Given the description of an element on the screen output the (x, y) to click on. 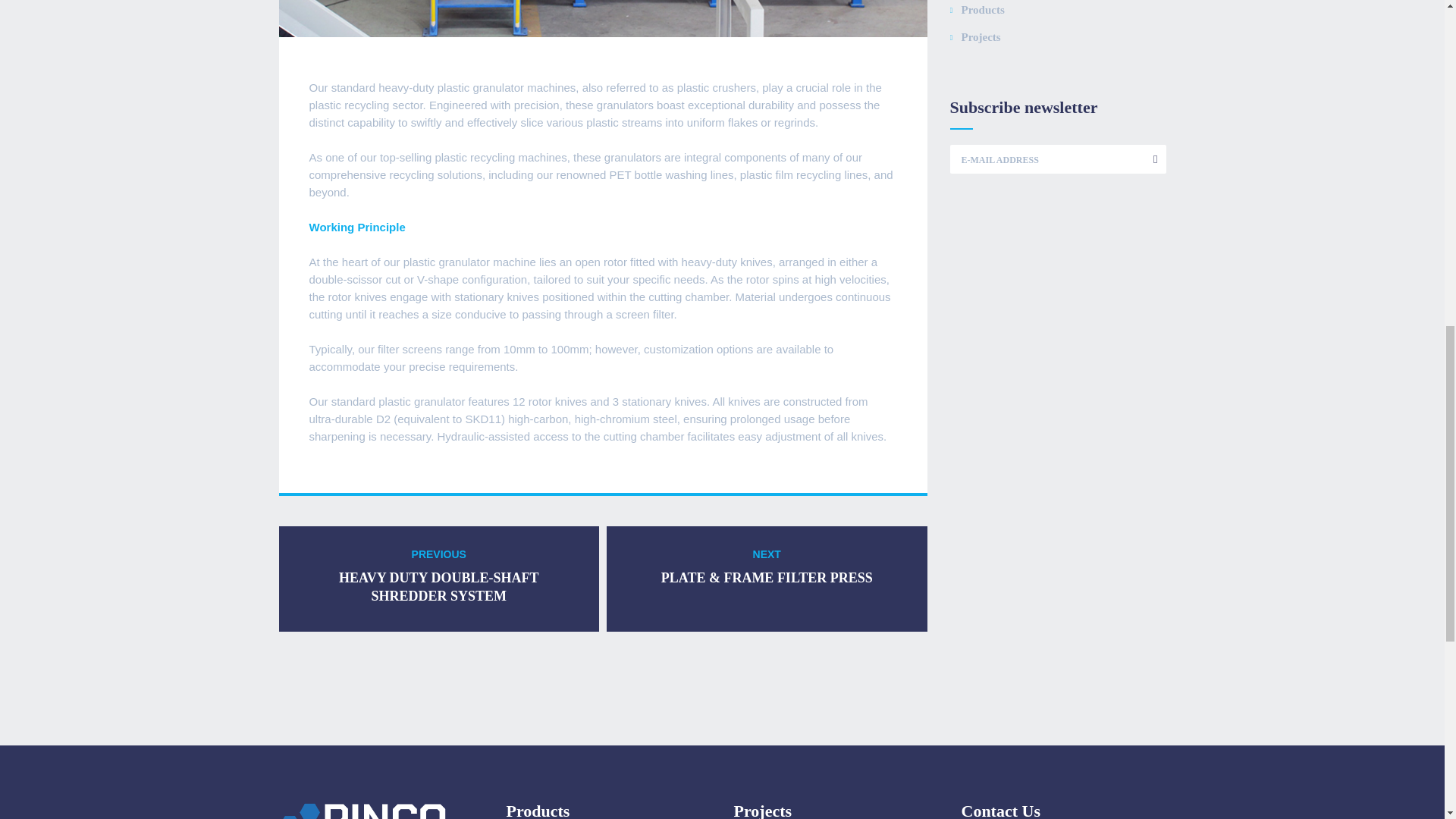
Subscribe to Newsletter (1151, 158)
Products (439, 578)
Projects (976, 9)
Subscribe to Newsletter (974, 36)
